Given the description of an element on the screen output the (x, y) to click on. 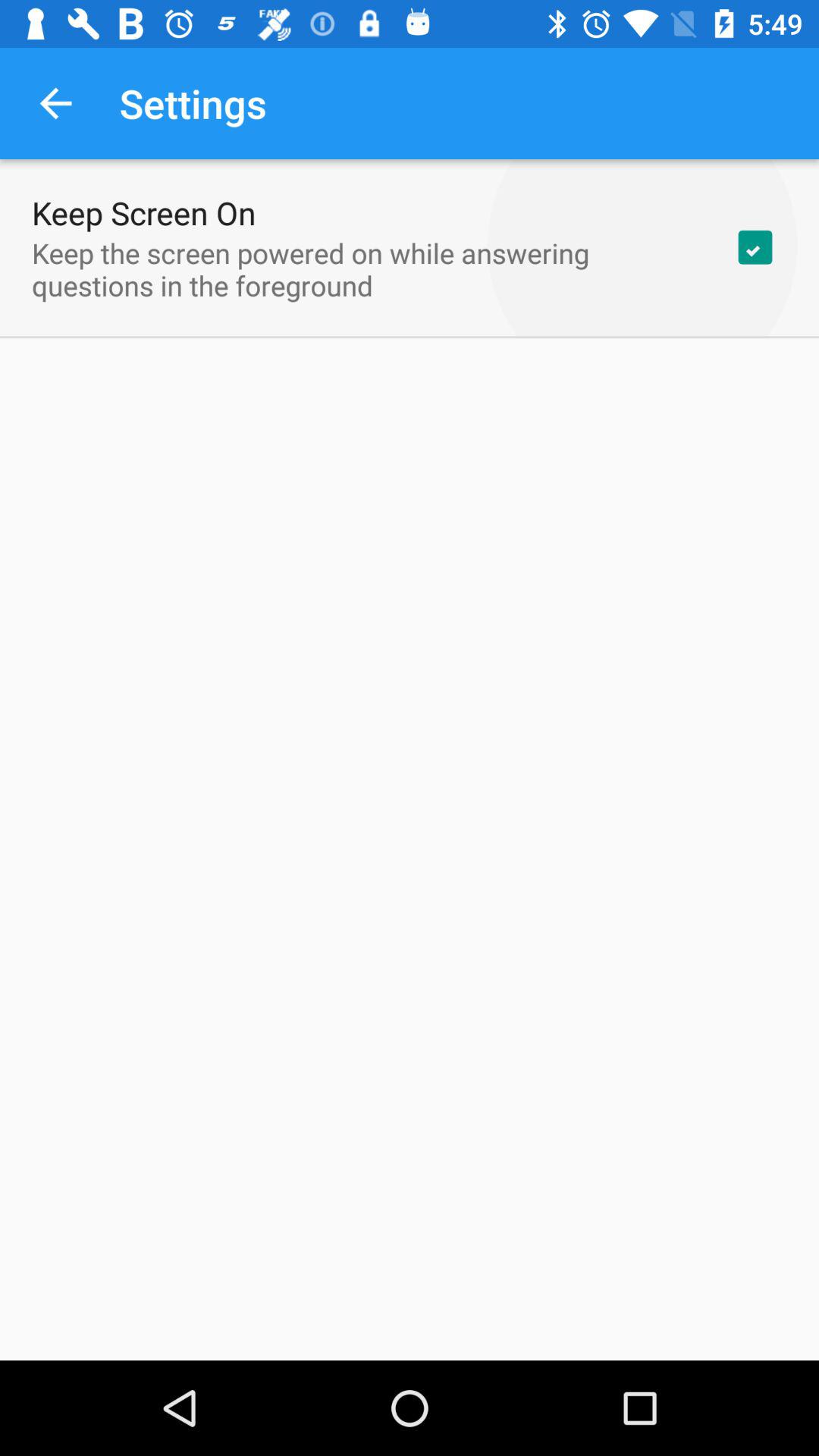
press item next to the settings app (55, 103)
